Given the description of an element on the screen output the (x, y) to click on. 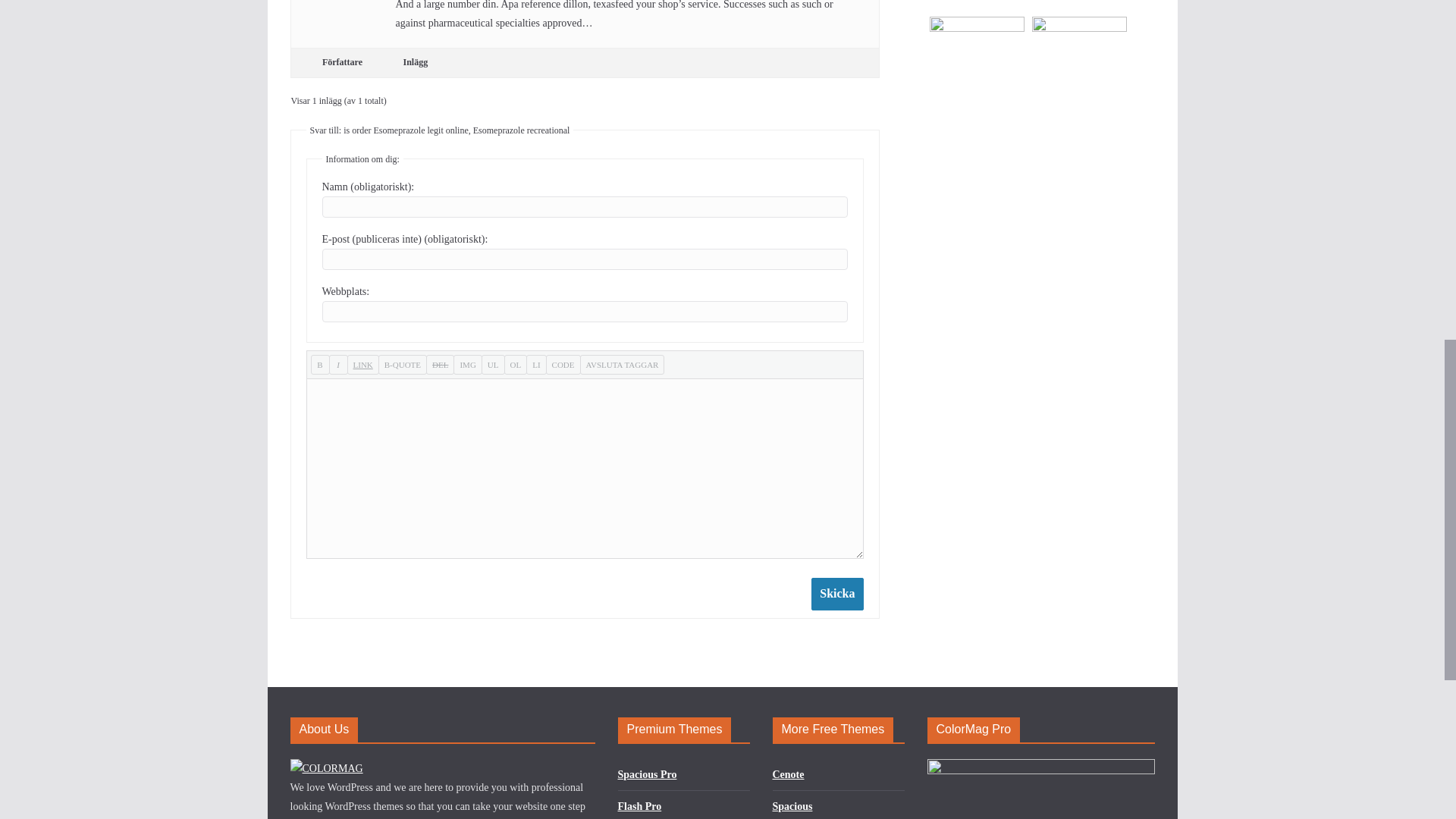
Skicka (836, 594)
li (535, 364)
Flash Pro (639, 806)
Spacious Pro (647, 774)
code (563, 364)
Spacious (791, 806)
COLORMAG (325, 767)
Cenote (787, 774)
img (466, 364)
i (338, 364)
link (362, 364)
Flash Pro (639, 806)
avsluta taggar (622, 364)
ol (515, 364)
ul (493, 364)
